Given the description of an element on the screen output the (x, y) to click on. 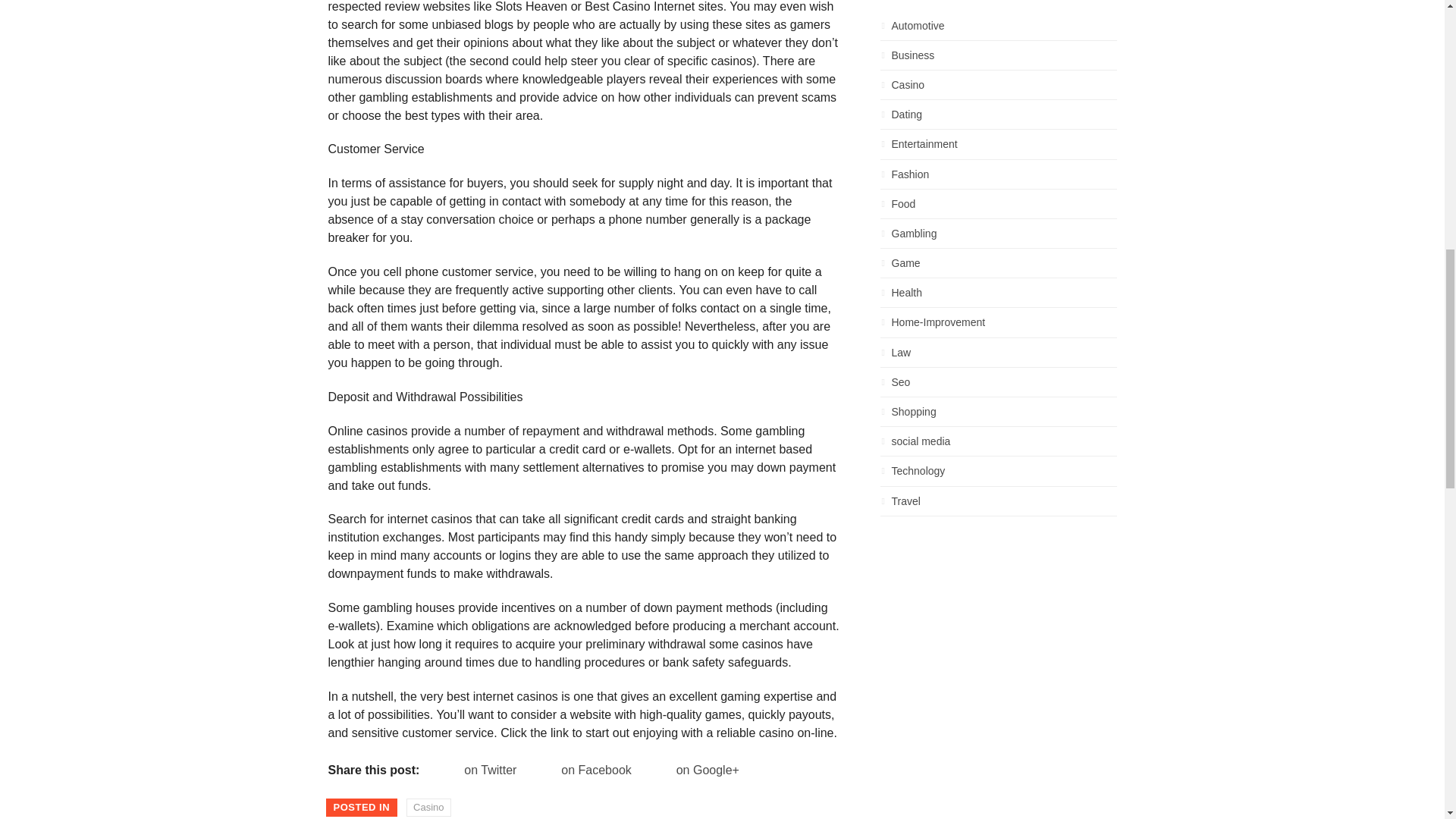
on Twitter (474, 770)
Casino (427, 807)
on Facebook (580, 770)
